Given the description of an element on the screen output the (x, y) to click on. 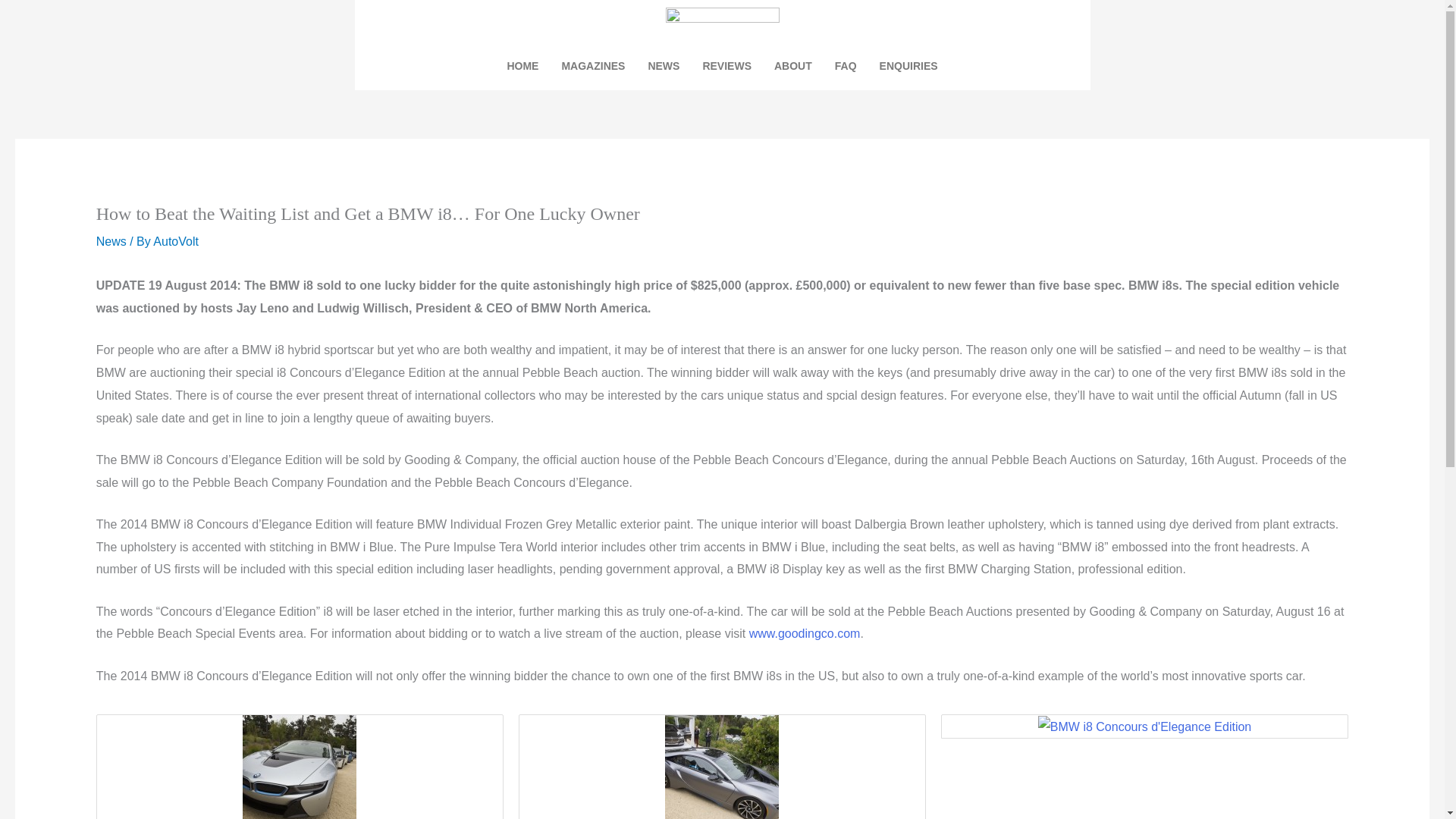
ABOUT (793, 65)
NEWS (663, 65)
AutoVolt (175, 241)
FAQ (845, 65)
Get Autovolt in print and digital (593, 65)
www.goodingco.com (804, 633)
Contact Autovolt (908, 65)
HOME (522, 65)
MAGAZINES (593, 65)
REVIEWS (726, 65)
Home of Autovolt, the electric and hybrid vehicle magazine (522, 65)
The latest news from Autovolt (663, 65)
ENQUIRIES (908, 65)
View all posts by AutoVolt (175, 241)
Frequently Asked Questions (845, 65)
